Given the description of an element on the screen output the (x, y) to click on. 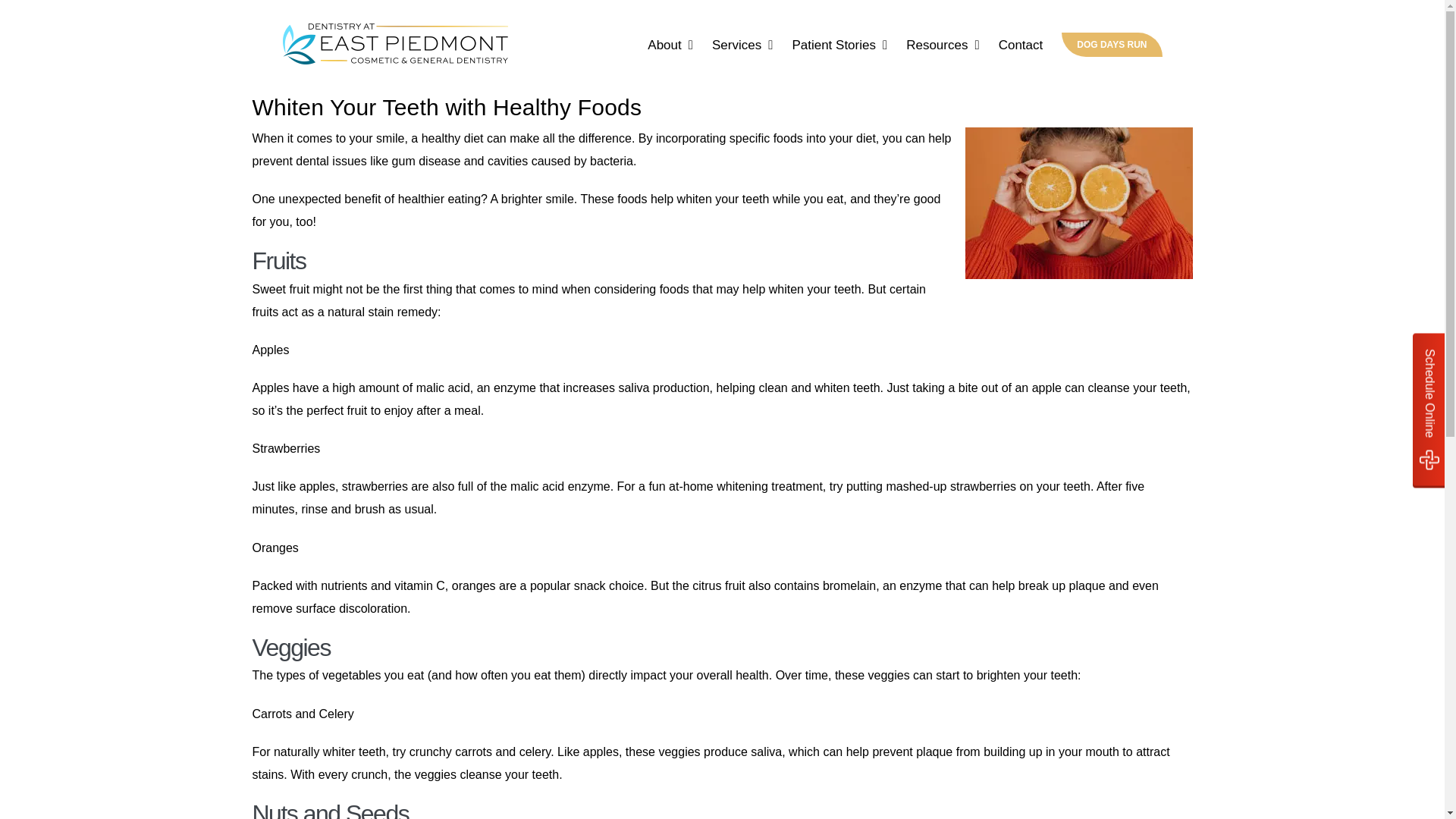
Patient Stories (839, 43)
